Given the description of an element on the screen output the (x, y) to click on. 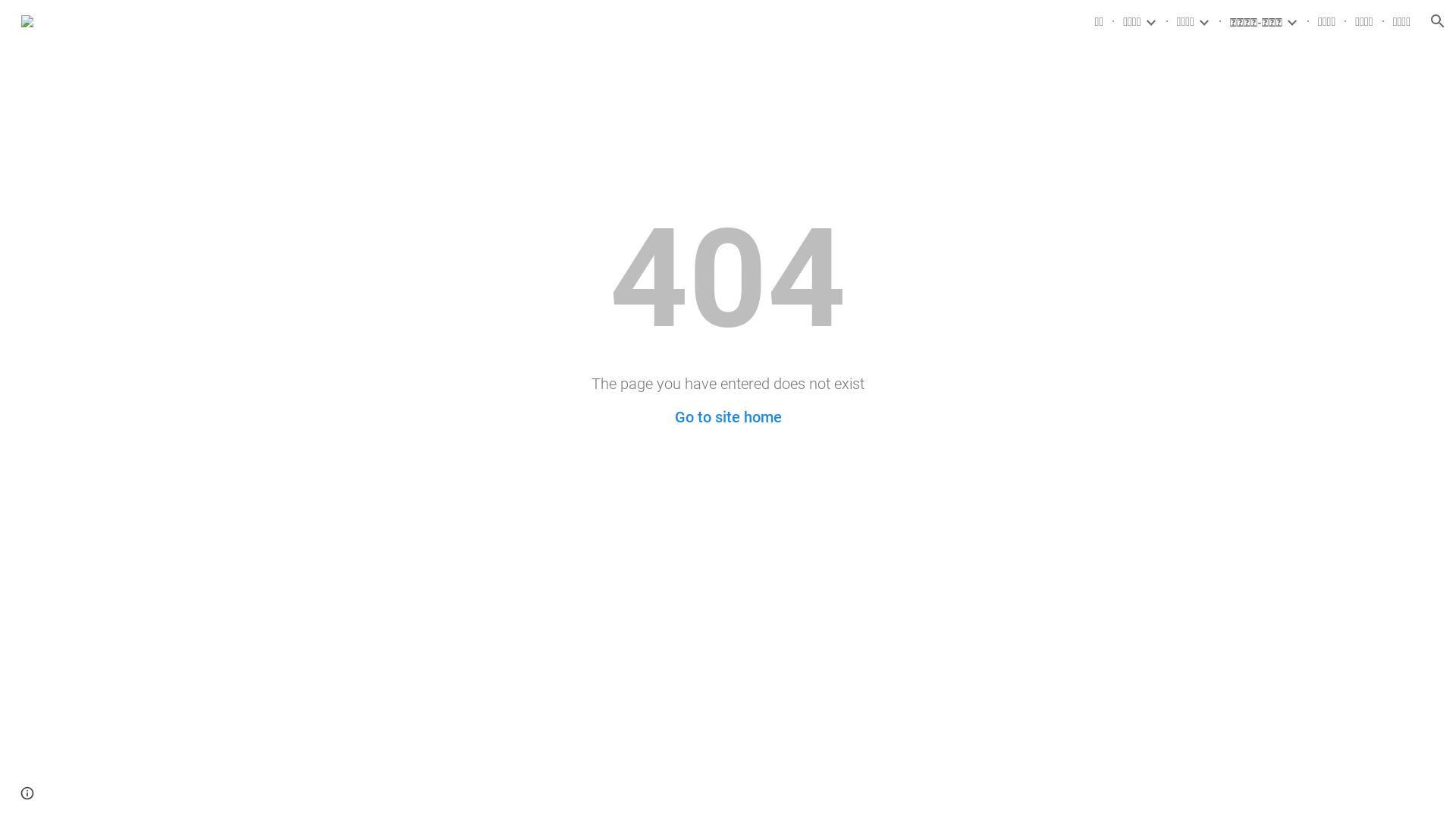
Go to site home Element type: text (727, 416)
Expand/Collapse Element type: hover (1291, 20)
Expand/Collapse Element type: hover (1203, 20)
Expand/Collapse Element type: hover (1150, 20)
